Given the description of an element on the screen output the (x, y) to click on. 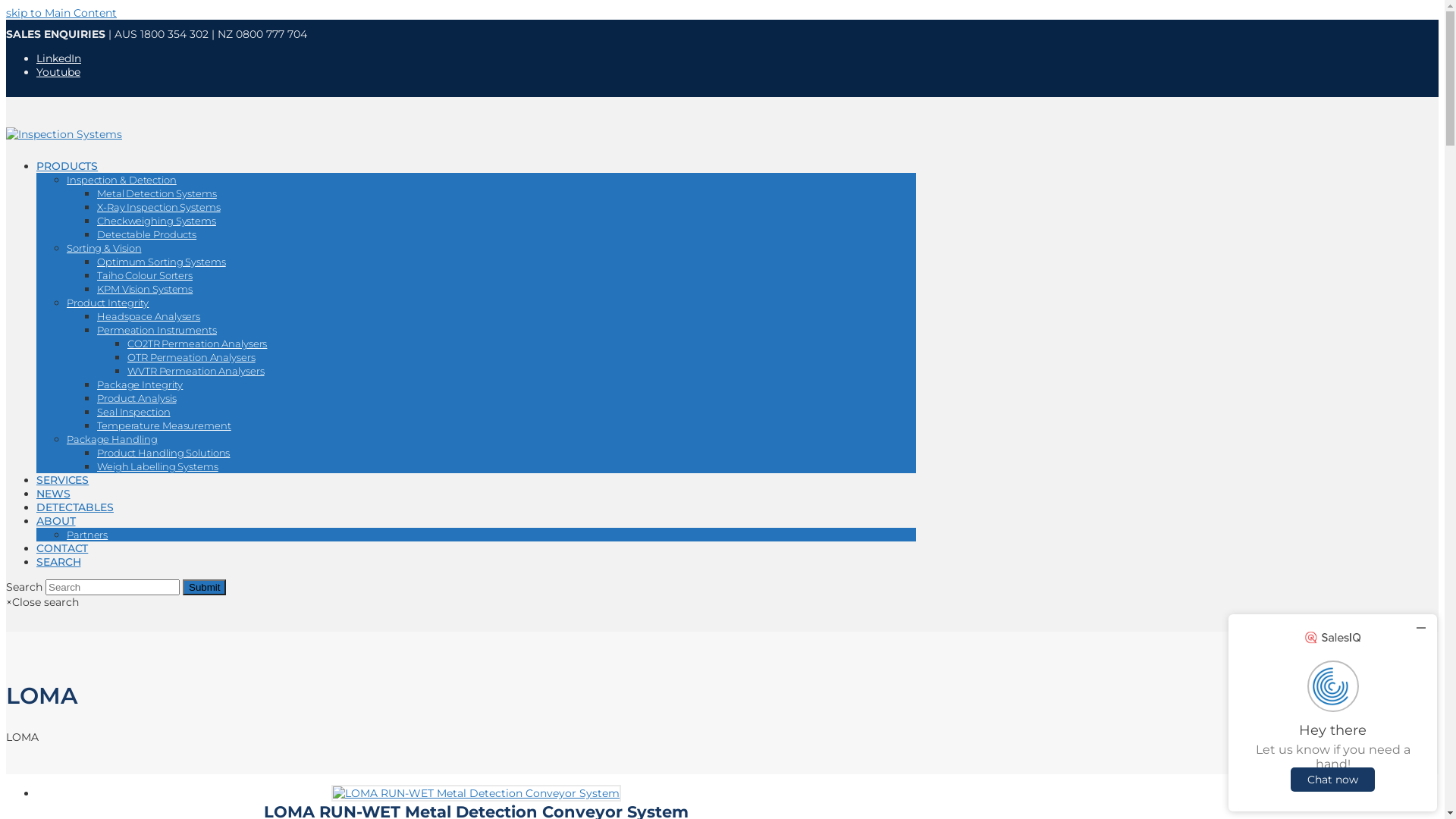
Youtube Element type: text (58, 71)
Sorting & Vision Element type: text (103, 247)
WVTR Permeation Analysers Element type: text (195, 370)
Weigh Labelling Systems Element type: text (157, 466)
Detectable Products Element type: text (146, 234)
Metal Detection Systems Element type: text (156, 193)
KPM Vision Systems Element type: text (144, 288)
ABOUT Element type: text (55, 520)
Temperature Measurement Element type: text (164, 425)
Partners Element type: text (86, 534)
OTR Permeation Analysers Element type: text (191, 357)
Package Integrity Element type: text (139, 384)
Package Handling Element type: text (111, 438)
Checkweighing Systems Element type: text (156, 220)
LinkedIn Element type: text (58, 58)
PRODUCTS Element type: text (66, 165)
NEWS Element type: text (53, 493)
Product Handling Solutions Element type: text (163, 452)
Optimum Sorting Systems Element type: text (161, 261)
Product Analysis Element type: text (136, 397)
Submit Element type: text (203, 587)
CONTACT Element type: text (61, 548)
SEARCH Element type: text (58, 561)
Product Integrity Element type: text (107, 302)
Taiho Colour Sorters Element type: text (144, 275)
skip to Main Content Element type: text (61, 12)
Inspection & Detection Element type: text (121, 179)
Seal Inspection Element type: text (133, 411)
Permeation Instruments Element type: text (156, 329)
DETECTABLES Element type: text (74, 507)
Headspace Analysers Element type: text (148, 316)
SERVICES Element type: text (62, 479)
CO2TR Permeation Analysers Element type: text (196, 343)
X-Ray Inspection Systems Element type: text (158, 206)
